Given the description of an element on the screen output the (x, y) to click on. 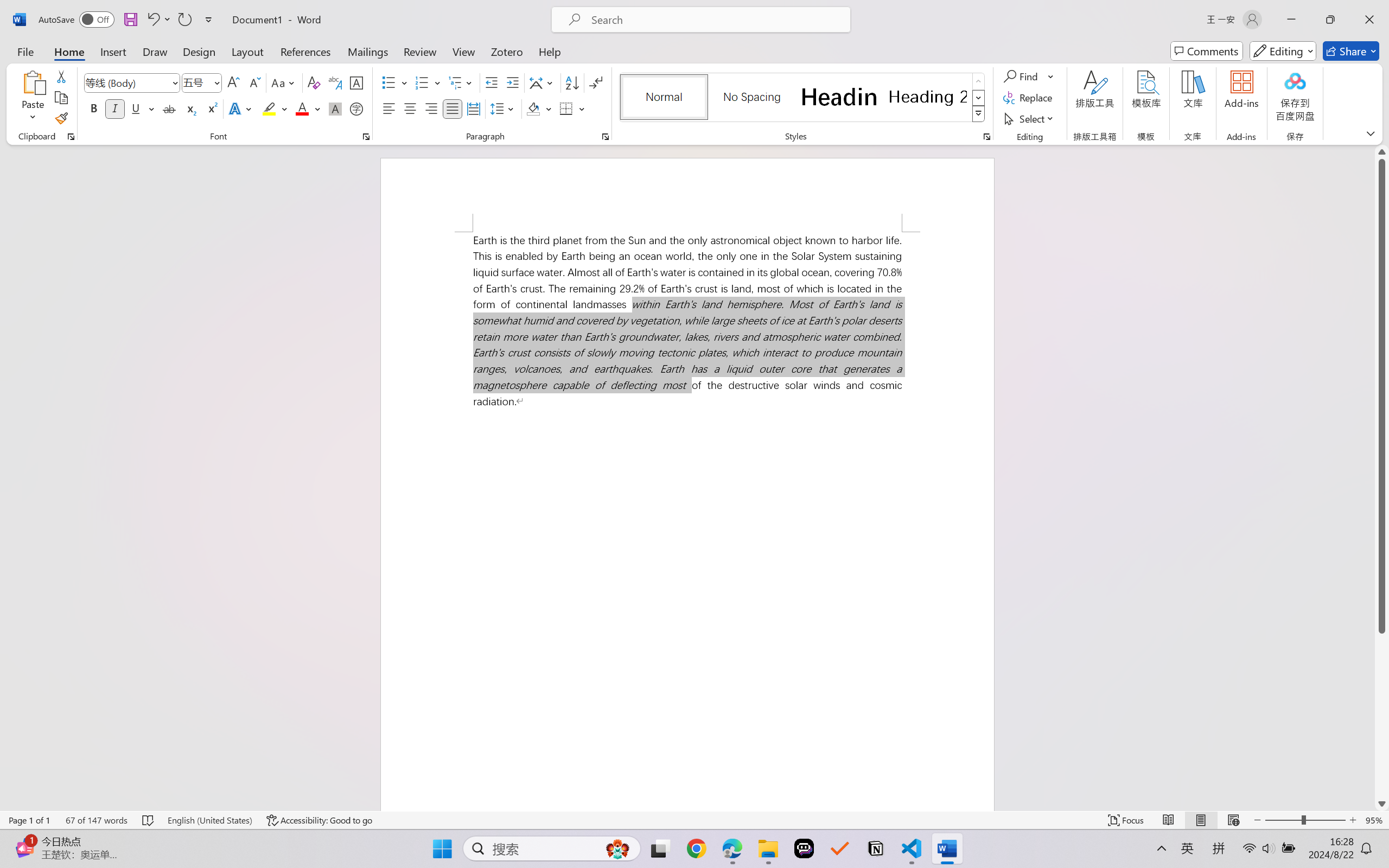
Line and Paragraph Spacing (503, 108)
Microsoft search (715, 19)
Enclose Characters... (356, 108)
Decrease Indent (491, 82)
Sort... (571, 82)
